Given the description of an element on the screen output the (x, y) to click on. 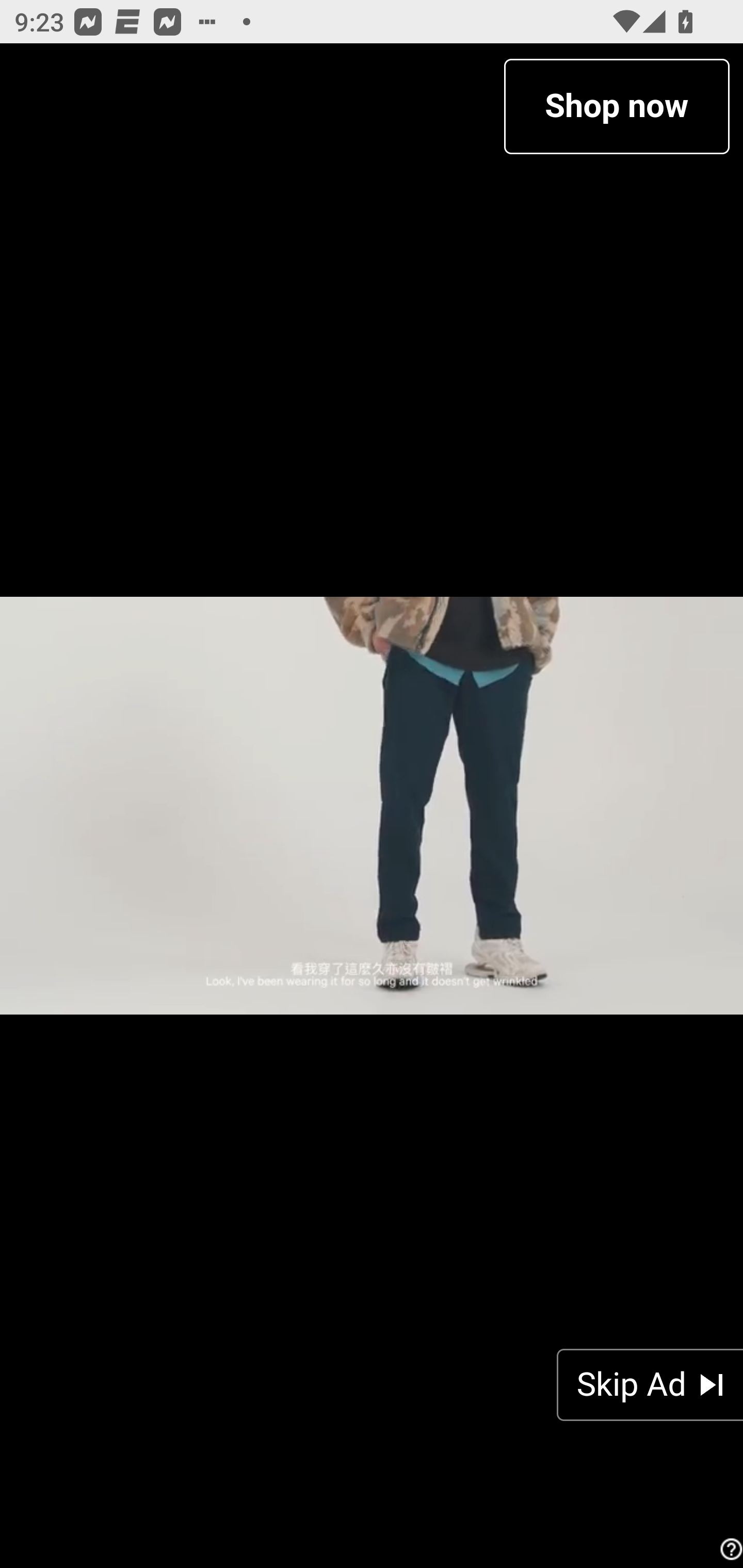
Shop now (616, 106)
help_outline_white_24dp_with_3px_trbl_padding (728, 1548)
